Given the description of an element on the screen output the (x, y) to click on. 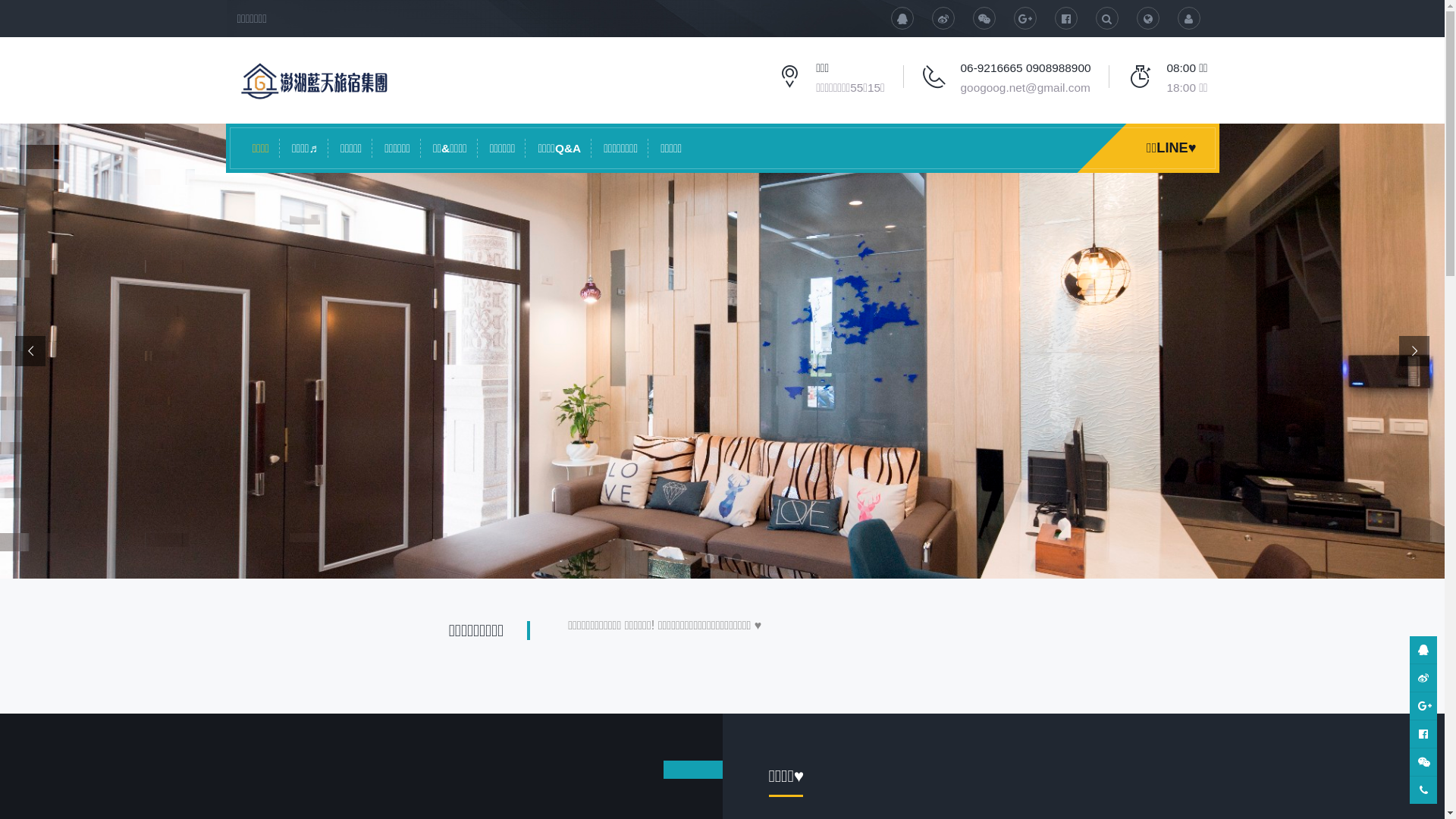
06-9216665 0908988900 Element type: text (1025, 67)
googoog.net@gmail.com Element type: text (1025, 87)
Toggle Search Element type: text (1106, 17)
Toggle Search Element type: text (1147, 17)
